Given the description of an element on the screen output the (x, y) to click on. 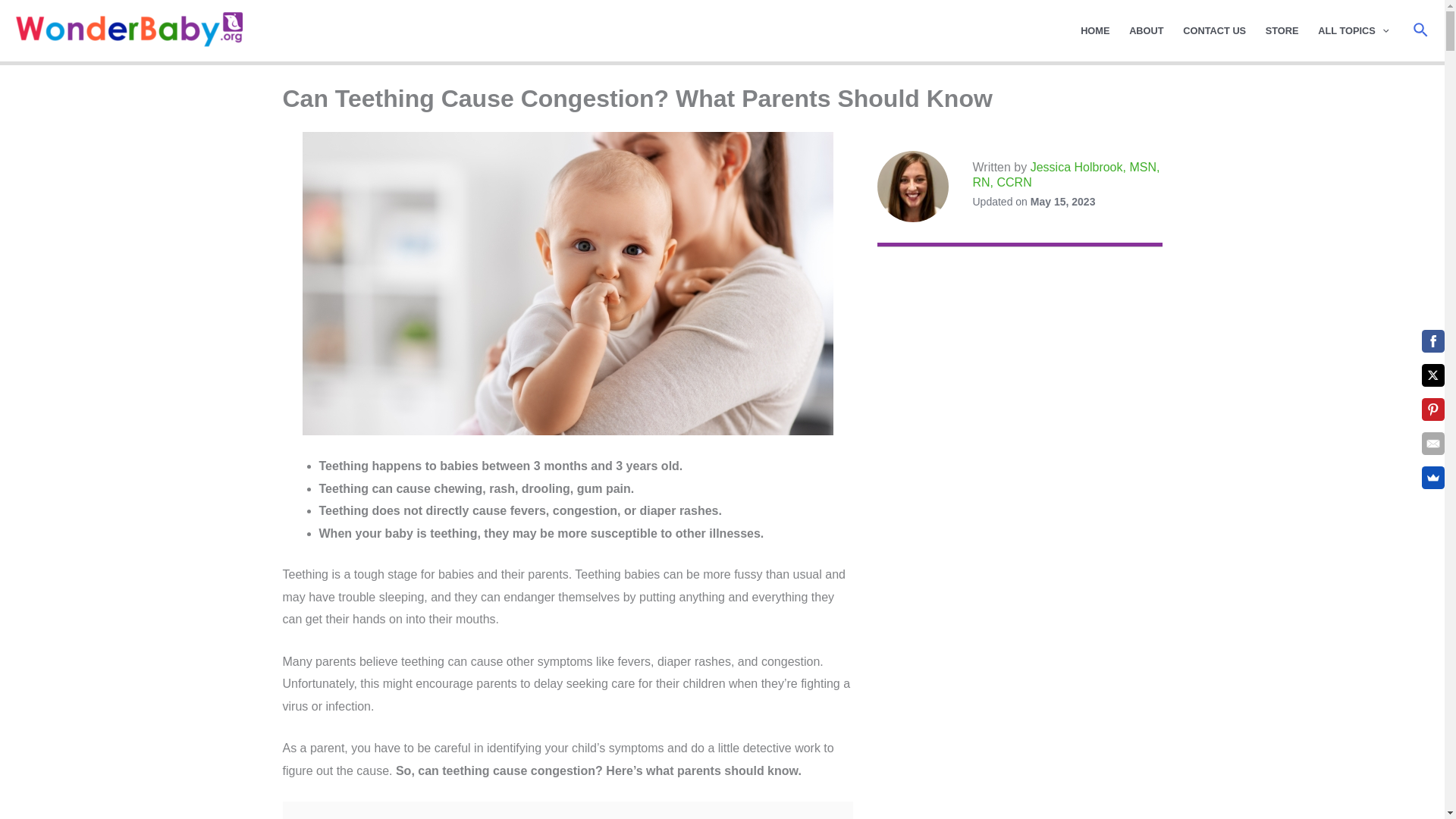
ALL TOPICS (1352, 30)
jessica-holbrook-2 (911, 185)
CONTACT US (1214, 30)
ABOUT (1146, 30)
STORE (1281, 30)
HOME (1094, 30)
